Given the description of an element on the screen output the (x, y) to click on. 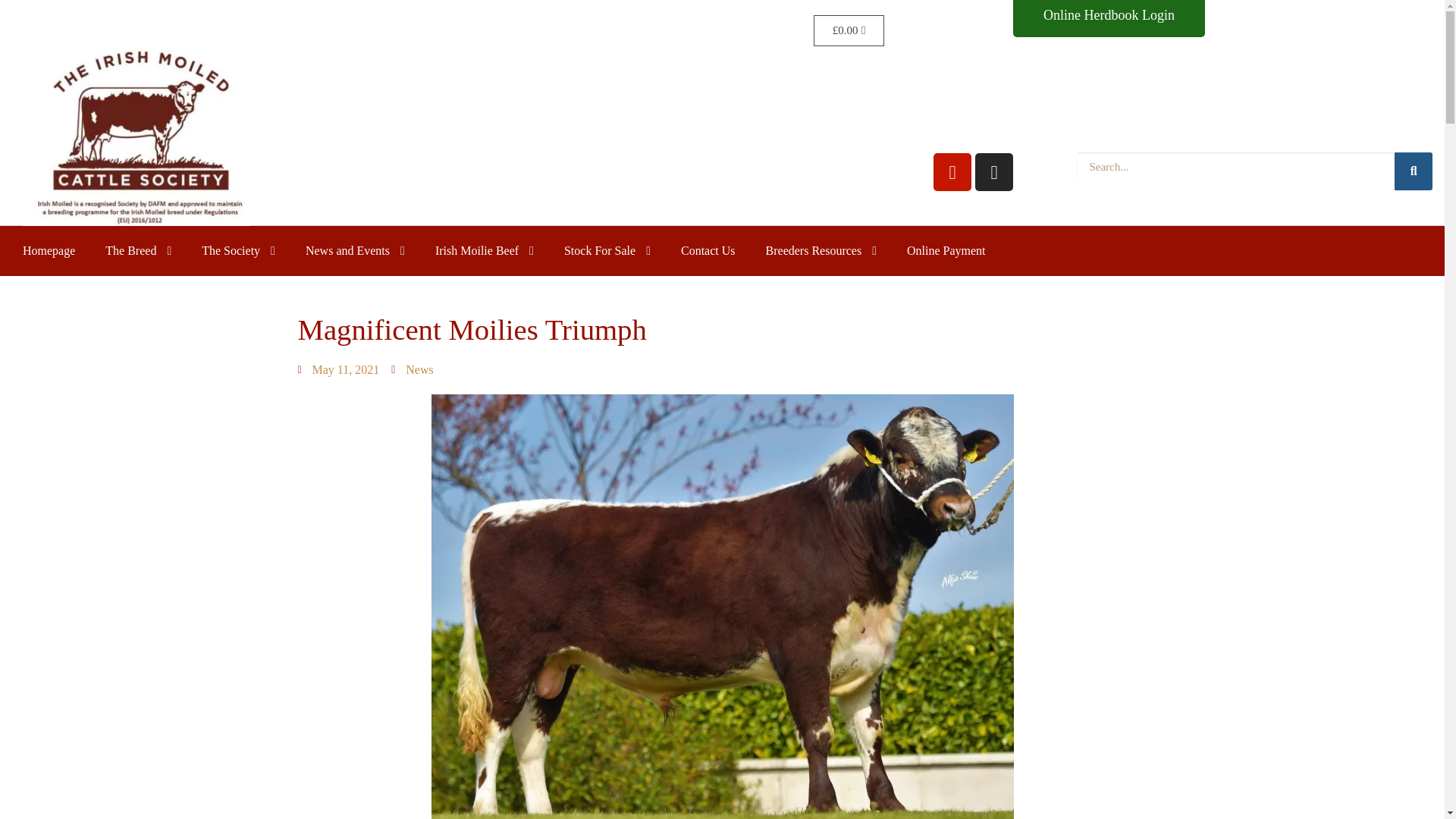
Homepage (484, 250)
Online Herdbook Login (606, 250)
Contact Us (821, 250)
